Given the description of an element on the screen output the (x, y) to click on. 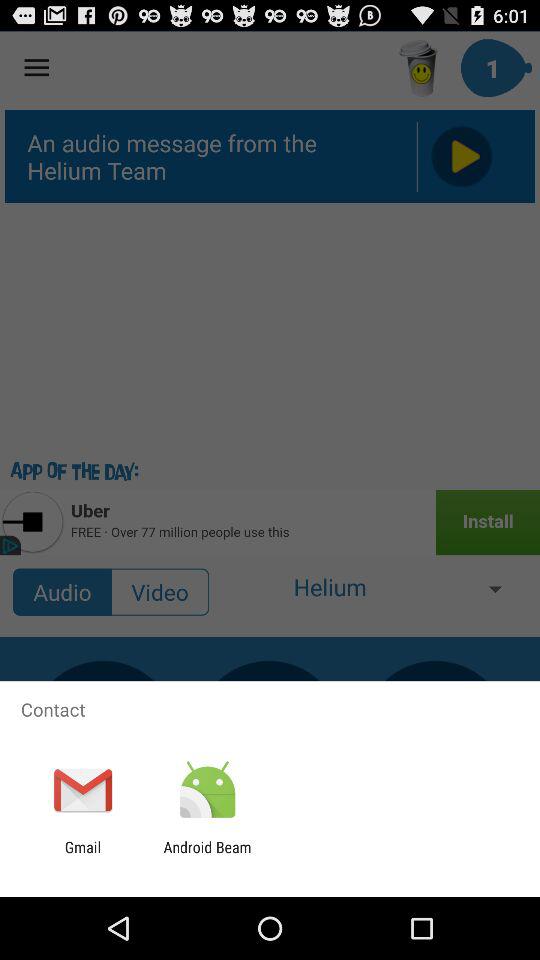
flip until gmail app (82, 856)
